Given the description of an element on the screen output the (x, y) to click on. 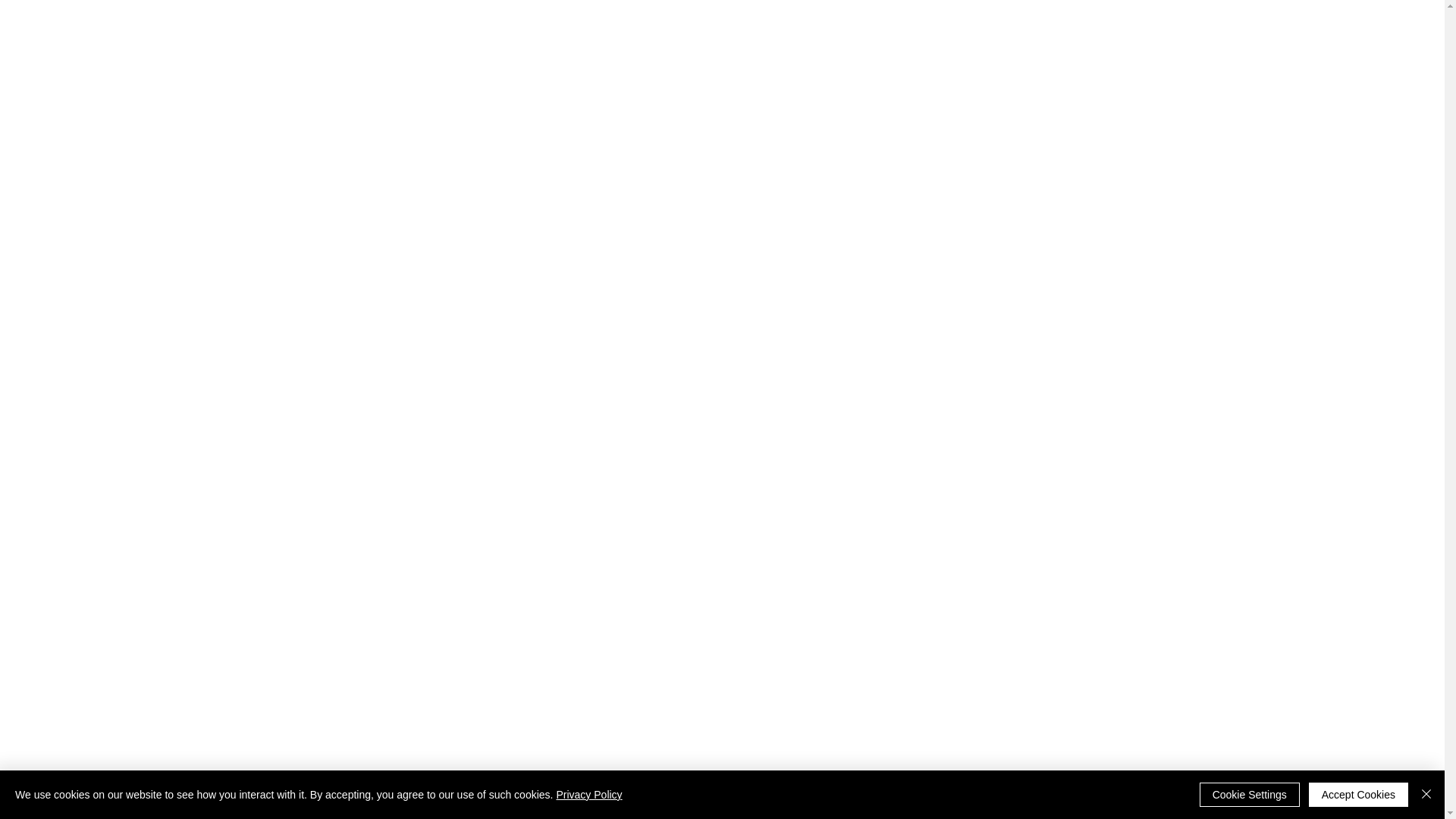
Accept Cookies (1357, 794)
Cookie Settings (1249, 794)
Privacy Policy (588, 794)
